Given the description of an element on the screen output the (x, y) to click on. 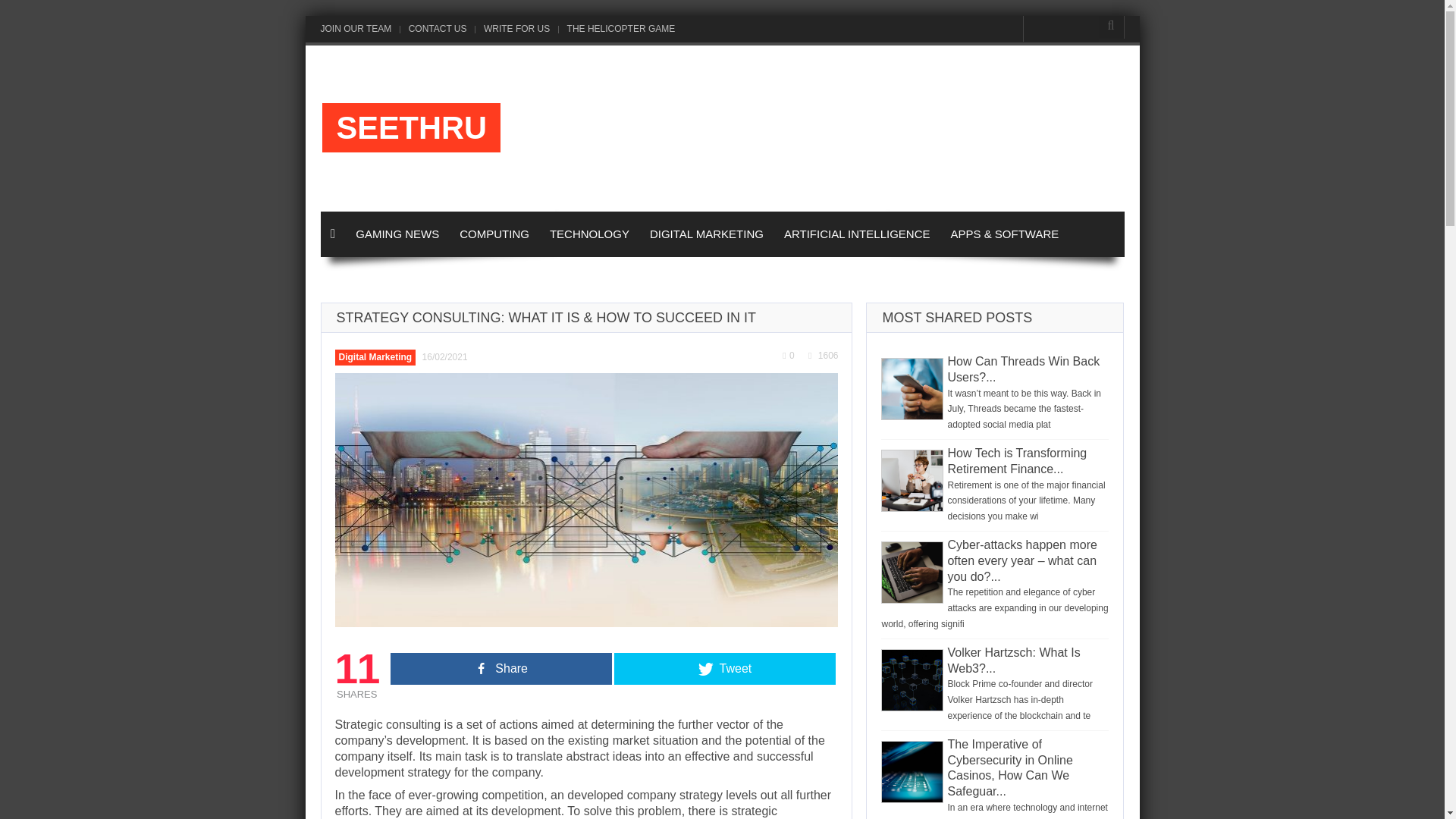
0 (788, 355)
11:01 (445, 357)
SEETHRU (410, 127)
Tweet (724, 668)
WRITE FOR US (490, 279)
CONTACT US (434, 28)
Digital Marketing (375, 357)
WRITE FOR US (514, 28)
VIRTUAL REALITY (379, 279)
How Can Threads Win Back Users?... (1023, 371)
COMPUTING (494, 234)
ARTIFICIAL INTELLIGENCE (856, 234)
